Given the description of an element on the screen output the (x, y) to click on. 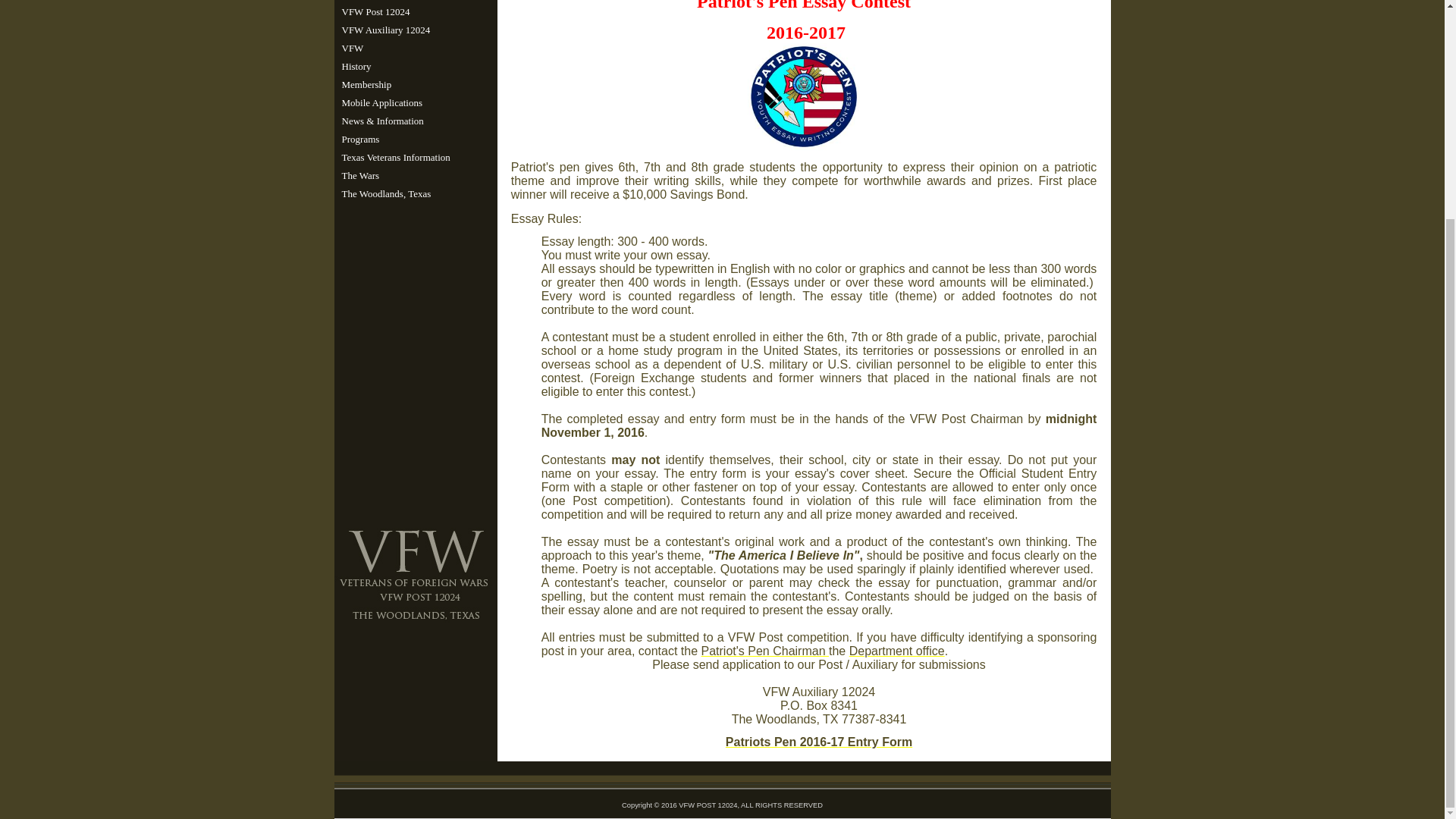
VFW (413, 48)
VFW Post 12024 (413, 12)
History (413, 66)
Home (413, 1)
VFW Auxiliary 12024 (413, 30)
